Given the description of an element on the screen output the (x, y) to click on. 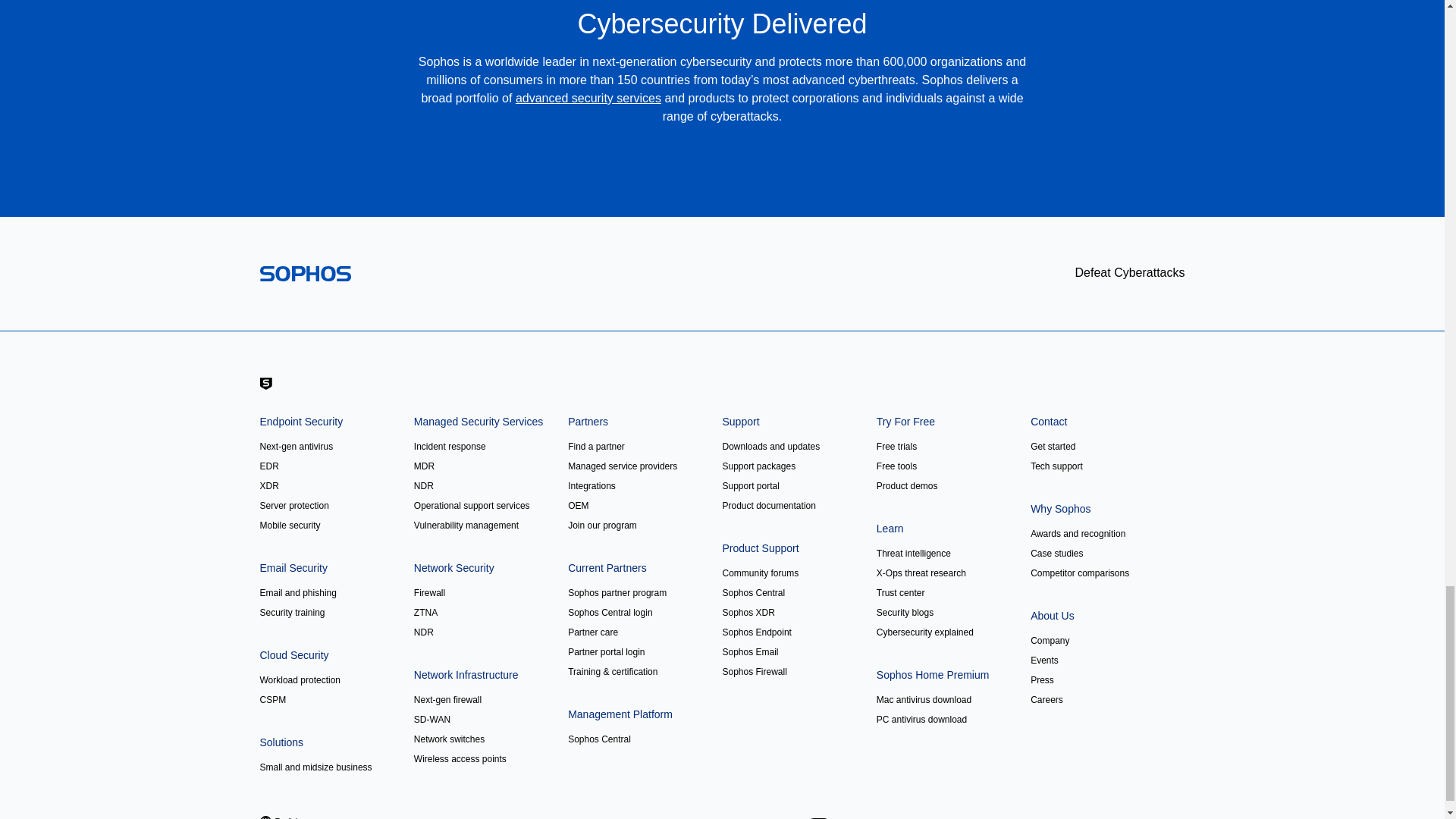
MDR Security Services (588, 97)
